Given the description of an element on the screen output the (x, y) to click on. 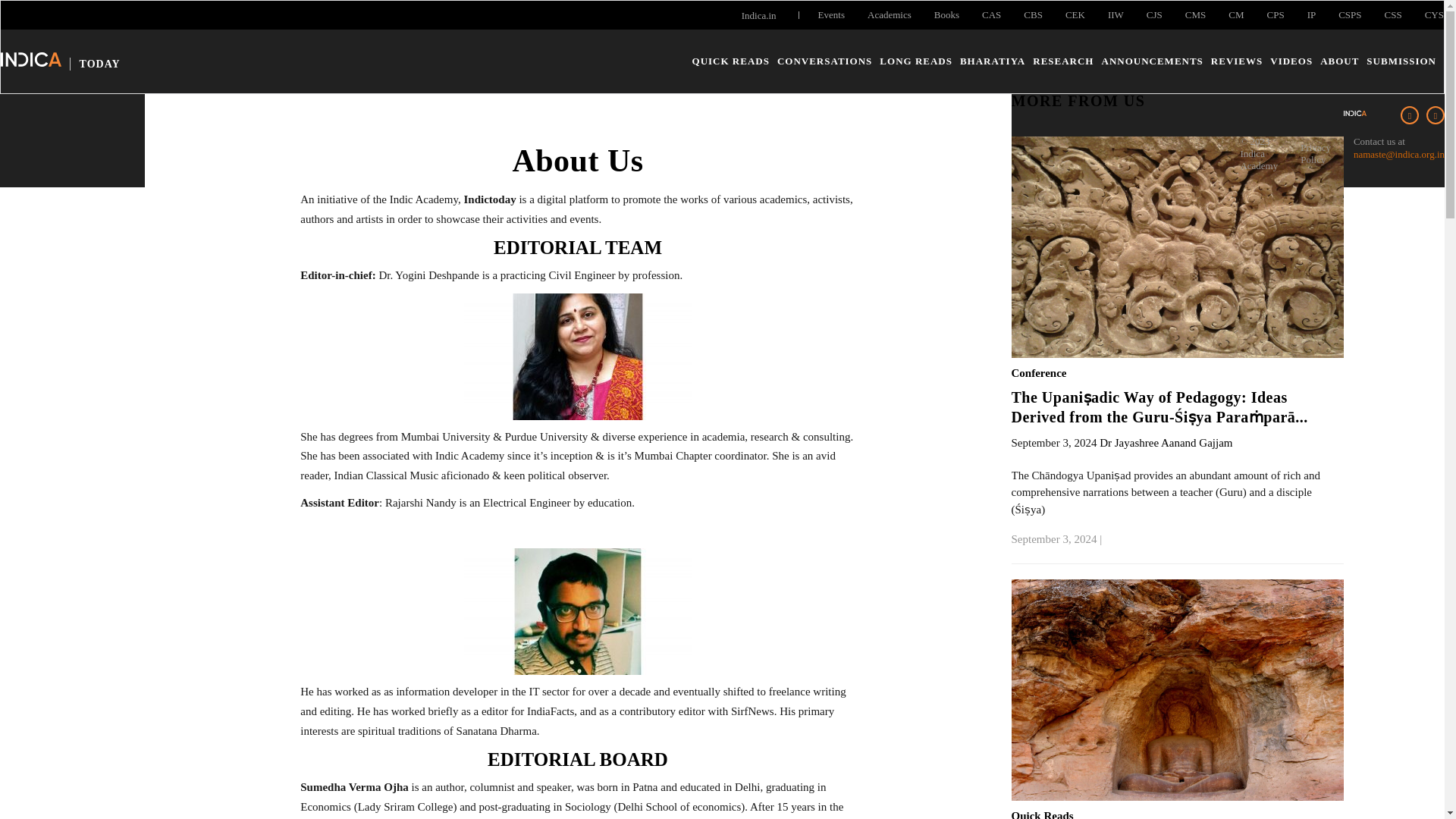
BHARATIYA (992, 61)
ABOUT (1339, 61)
SUBMISSION (1401, 61)
TODAY (60, 62)
CSS (1393, 15)
CPS (1275, 15)
CMS (1195, 15)
REVIEWS (1236, 61)
CBS (1032, 15)
Events (831, 15)
